Given the description of an element on the screen output the (x, y) to click on. 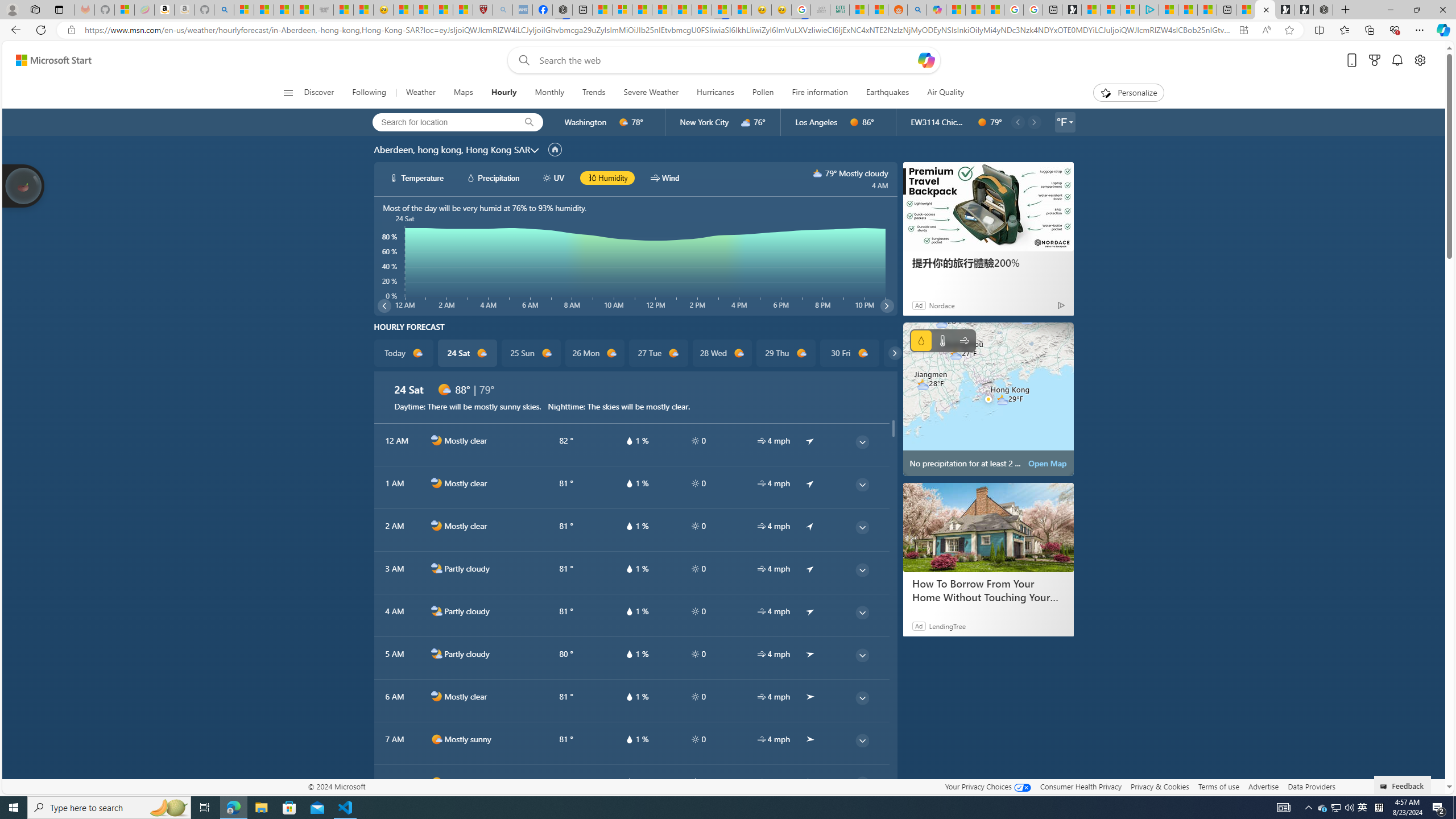
hourlyChart/precipitationWhite Precipitation (493, 178)
28 Wed d1000 (721, 352)
hourlyChart/temperatureWhite (394, 177)
n1000 (436, 696)
